Given the description of an element on the screen output the (x, y) to click on. 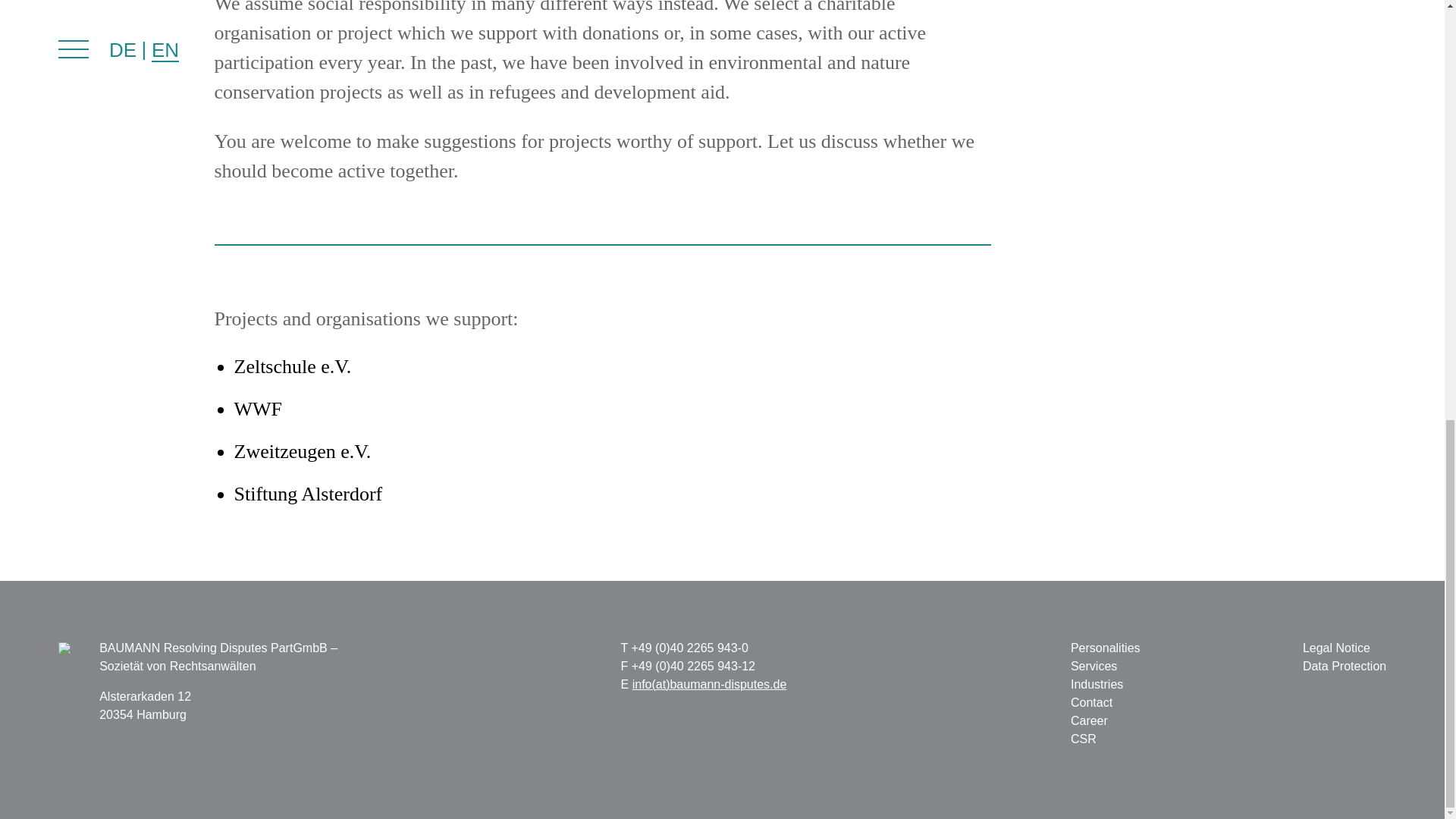
Data Protection (1344, 666)
Industries (1096, 684)
Contact (1091, 702)
CSR (1083, 738)
Career (1089, 720)
Legal Notice (1336, 647)
Services (1093, 666)
Personalities (1105, 647)
